Given the description of an element on the screen output the (x, y) to click on. 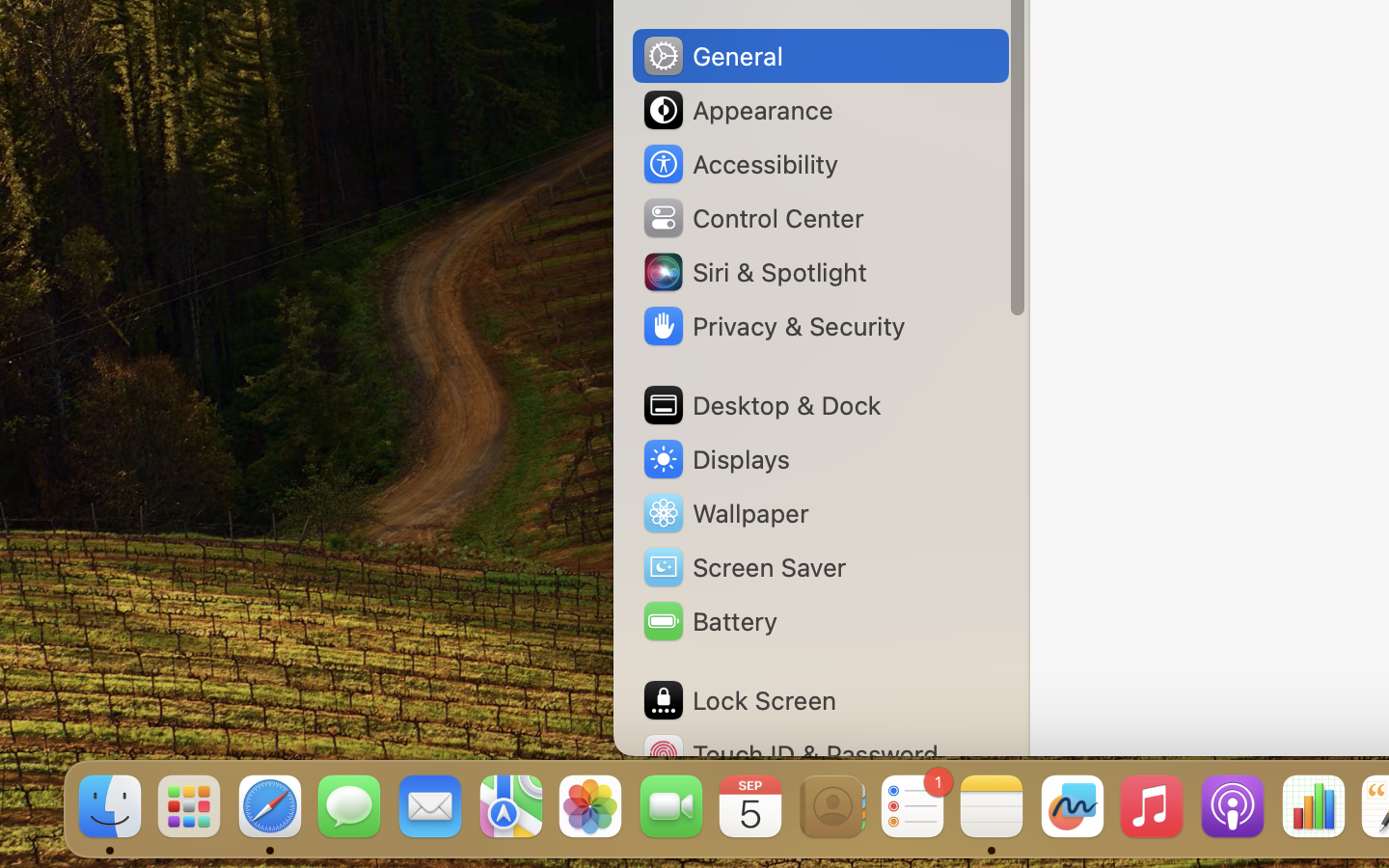
Control Center Element type: AXStaticText (752, 217)
Battery Element type: AXStaticText (708, 620)
Desktop & Dock Element type: AXStaticText (760, 404)
